Given the description of an element on the screen output the (x, y) to click on. 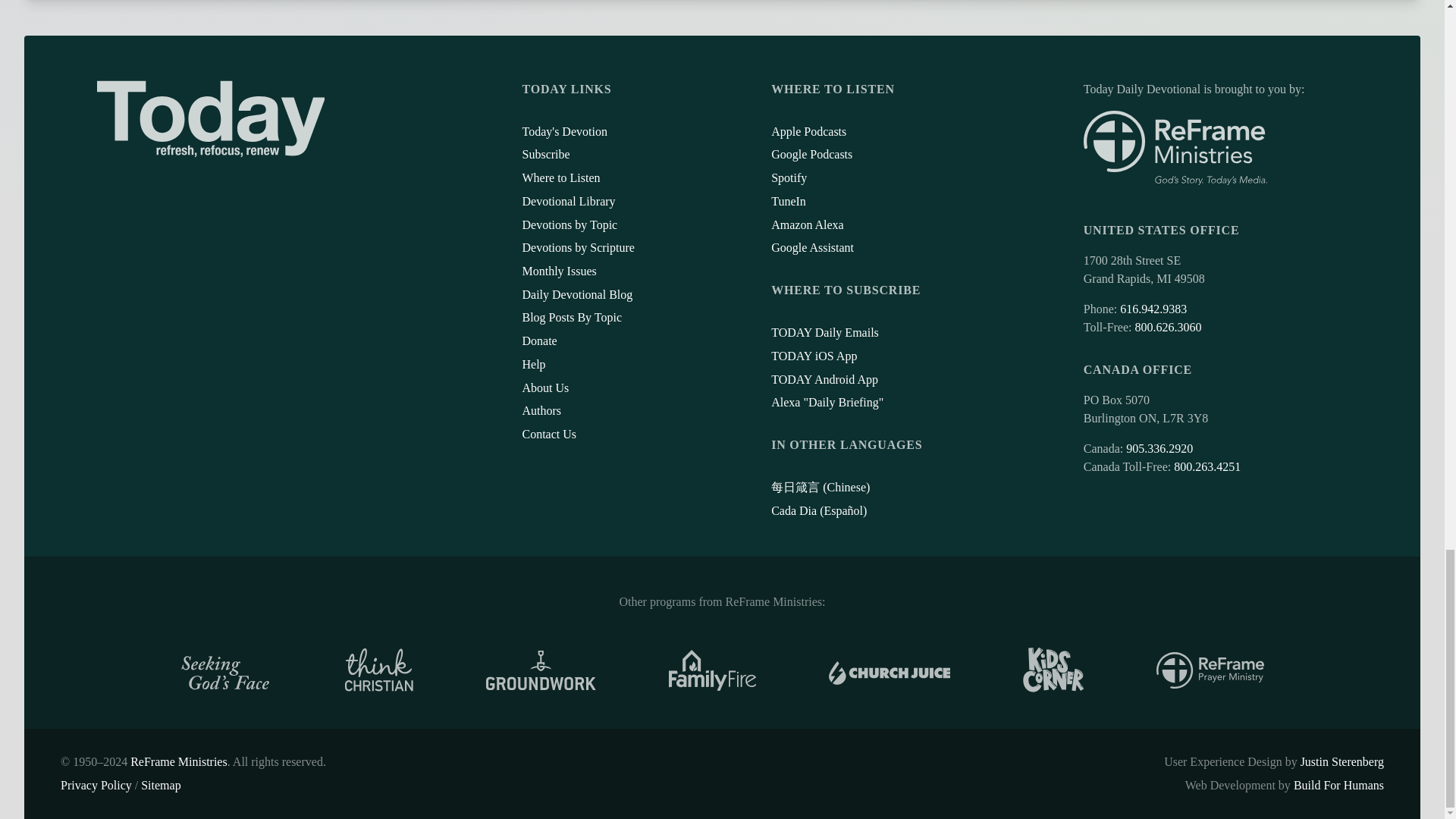
Devotions by Scripture (577, 246)
Help (532, 364)
Devotional Library (567, 201)
Subscribe (545, 154)
Donate (538, 340)
Devotions by Topic (569, 224)
Prayer Ministry (1209, 669)
Today's Devotion (564, 131)
Monthly Issues (558, 270)
Today Daily Devotional (210, 119)
ReFrame Ministries: God's story. Today's media. (1174, 147)
Authors (540, 410)
